Given the description of an element on the screen output the (x, y) to click on. 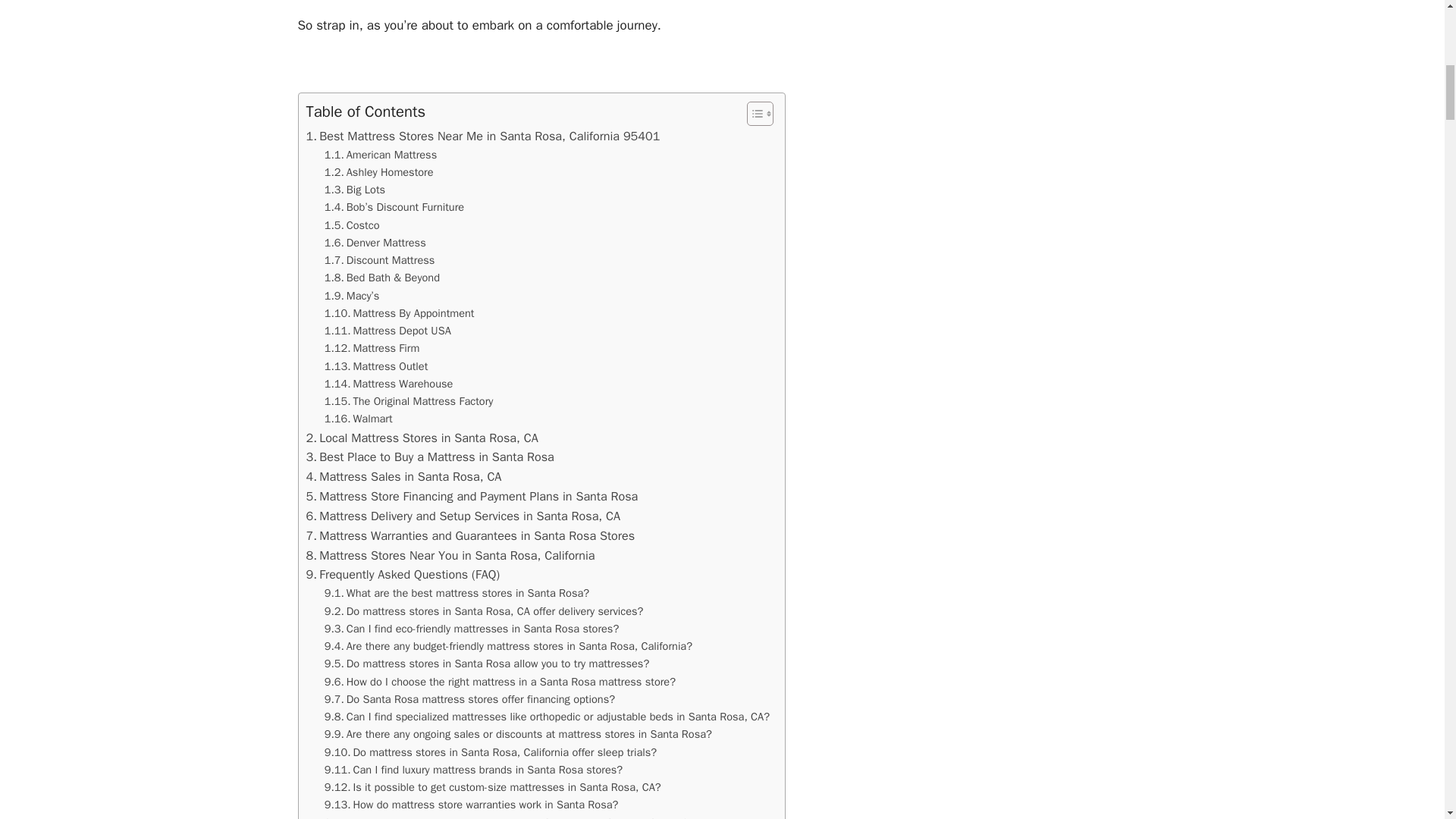
American Mattress (380, 154)
Denver Mattress (375, 242)
Best Mattress Stores Near Me in Santa Rosa, California 95401 (483, 136)
Big Lots (354, 189)
Costco (352, 225)
Discount Mattress (379, 260)
Ashley Homestore (378, 171)
